Given the description of an element on the screen output the (x, y) to click on. 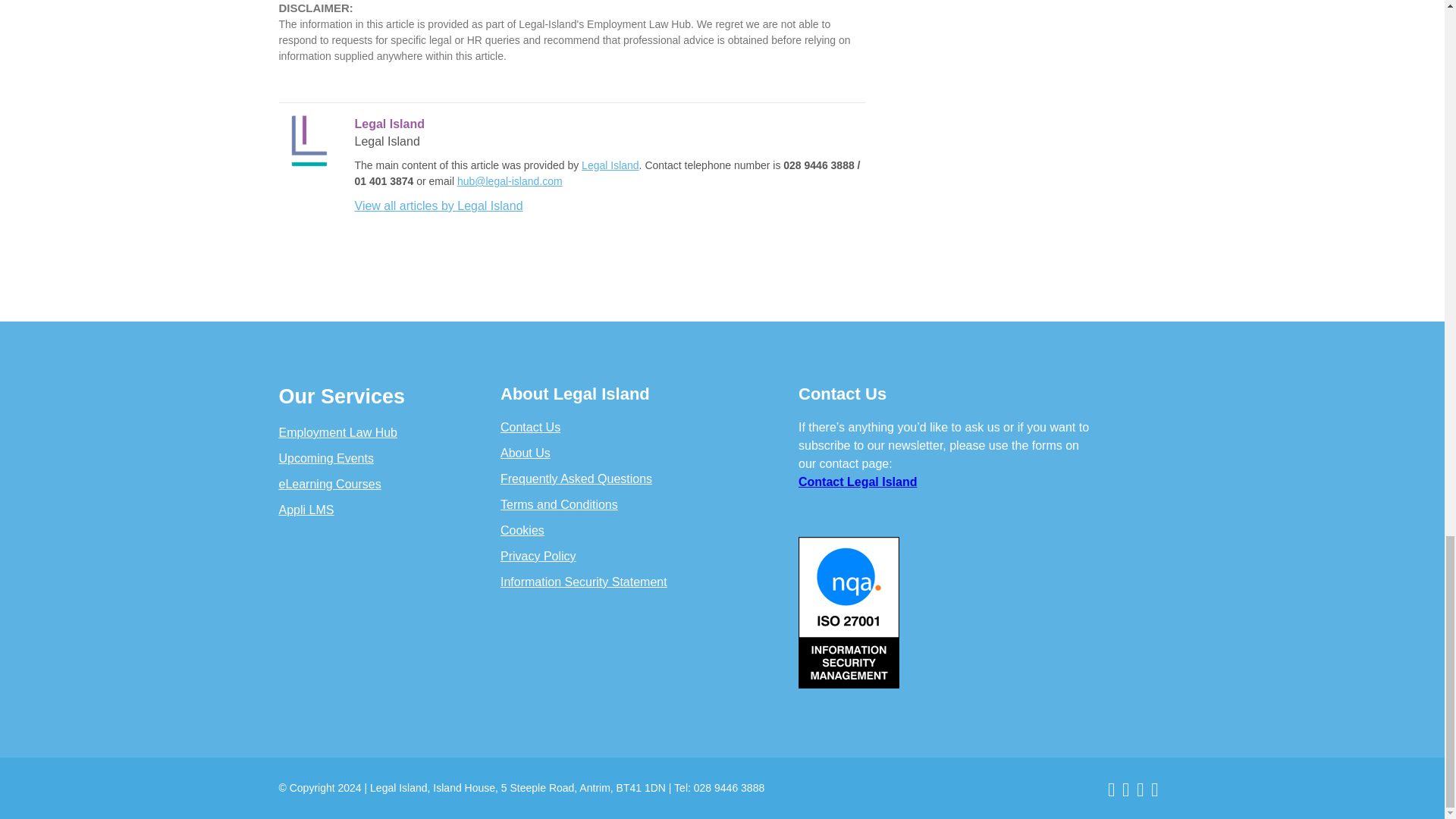
Upcoming Events (326, 458)
Appli LMS (306, 509)
Cookies (522, 530)
About Us (525, 452)
eLearning Courses (330, 483)
Employment Law Hub (338, 431)
Cookies (522, 530)
Terms and Conditions (558, 504)
Privacy Policy (538, 555)
Upcoming Events (326, 458)
Appli LMS (306, 509)
Frequently Asked Questions (576, 478)
eLearning Courses (330, 483)
Employment Law Hub (338, 431)
Legal Island (609, 164)
